Given the description of an element on the screen output the (x, y) to click on. 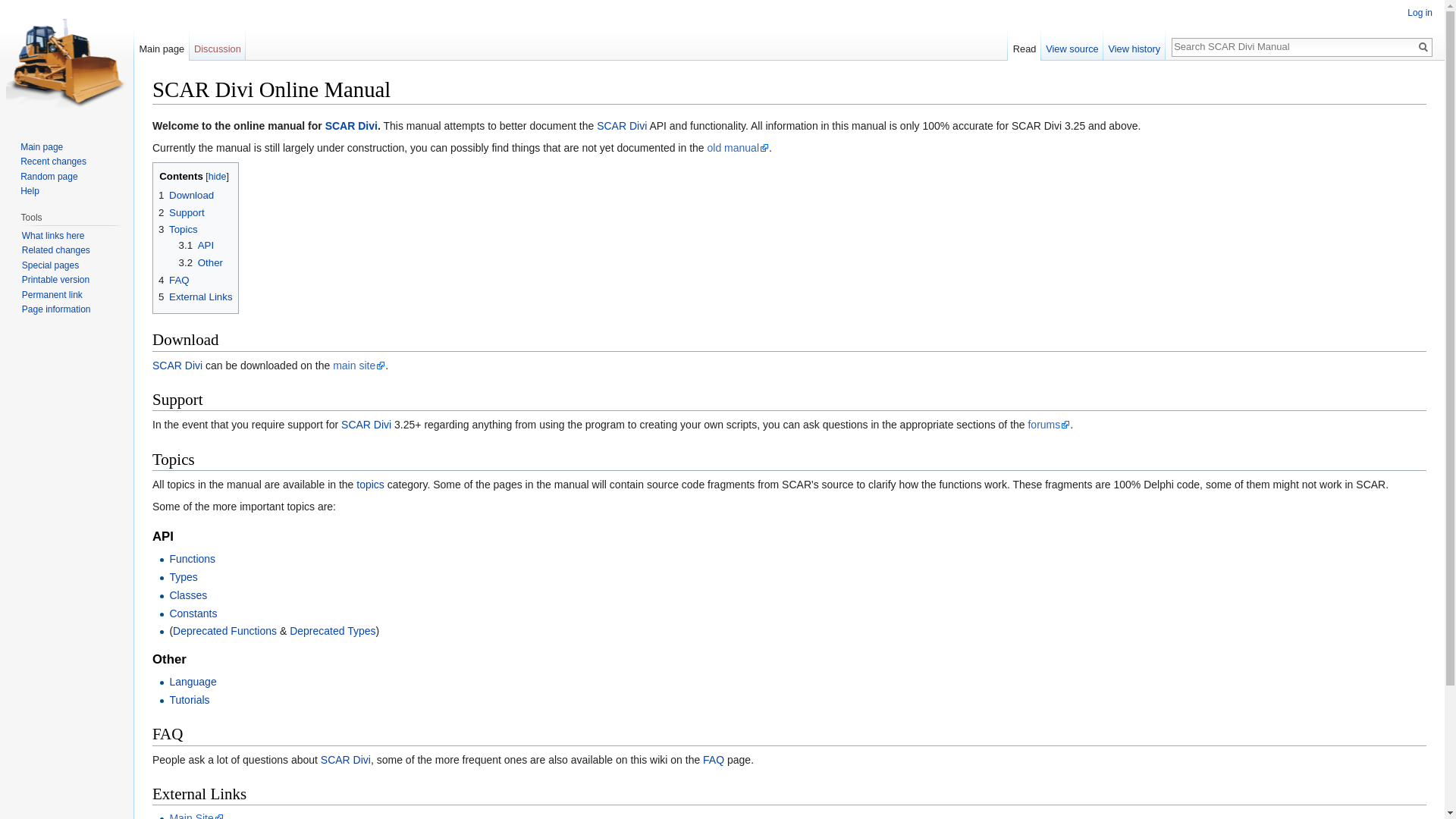
Tutorials (188, 699)
main site (359, 365)
Category:Deprecated Functions (224, 630)
View history (1134, 45)
Category:Tutorials (188, 699)
4 FAQ (173, 279)
2 Support (181, 211)
1 Download (186, 194)
5 External Links (195, 296)
SCAR Divi (365, 424)
